Given the description of an element on the screen output the (x, y) to click on. 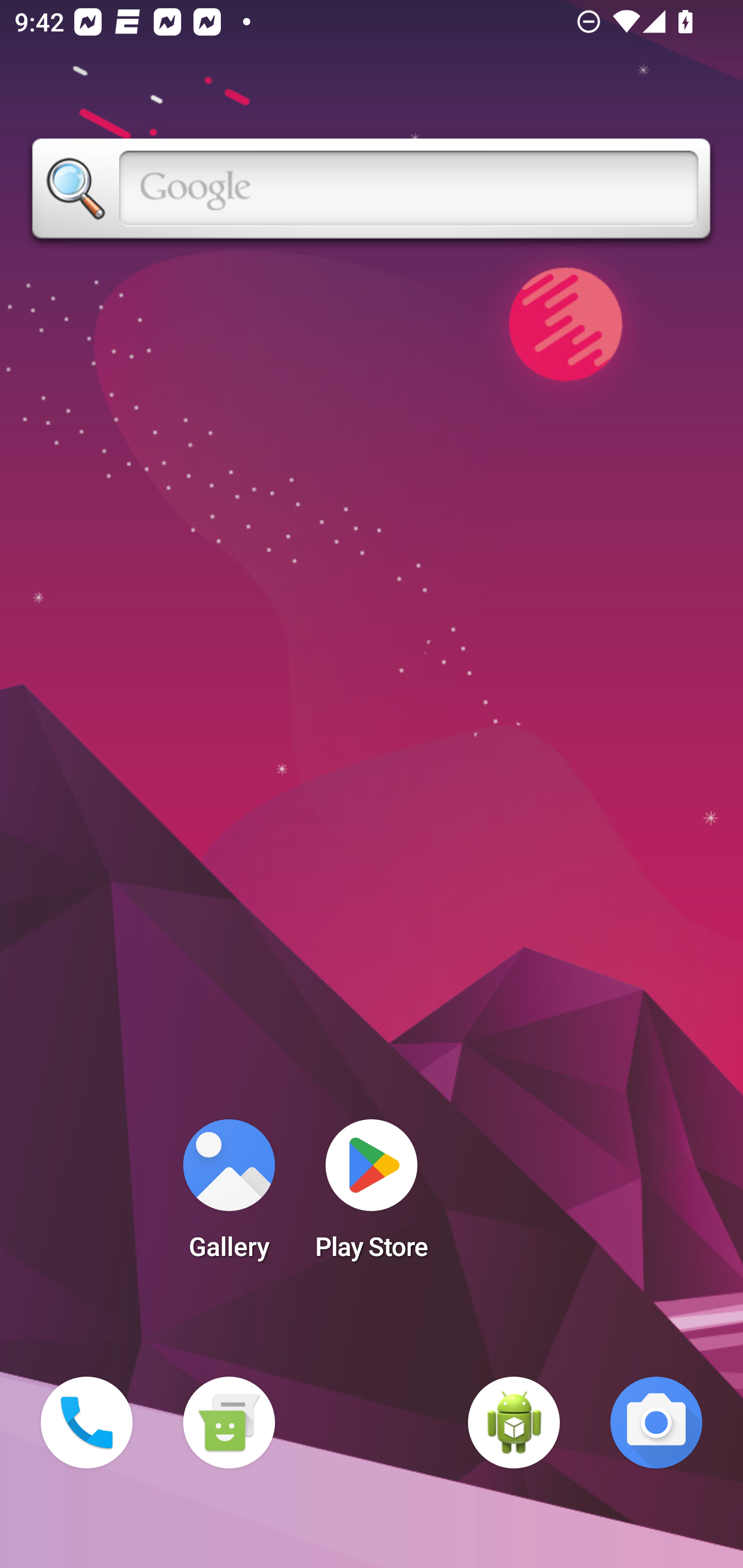
Gallery (228, 1195)
Play Store (371, 1195)
Phone (86, 1422)
Messaging (228, 1422)
WebView Browser Tester (513, 1422)
Camera (656, 1422)
